Given the description of an element on the screen output the (x, y) to click on. 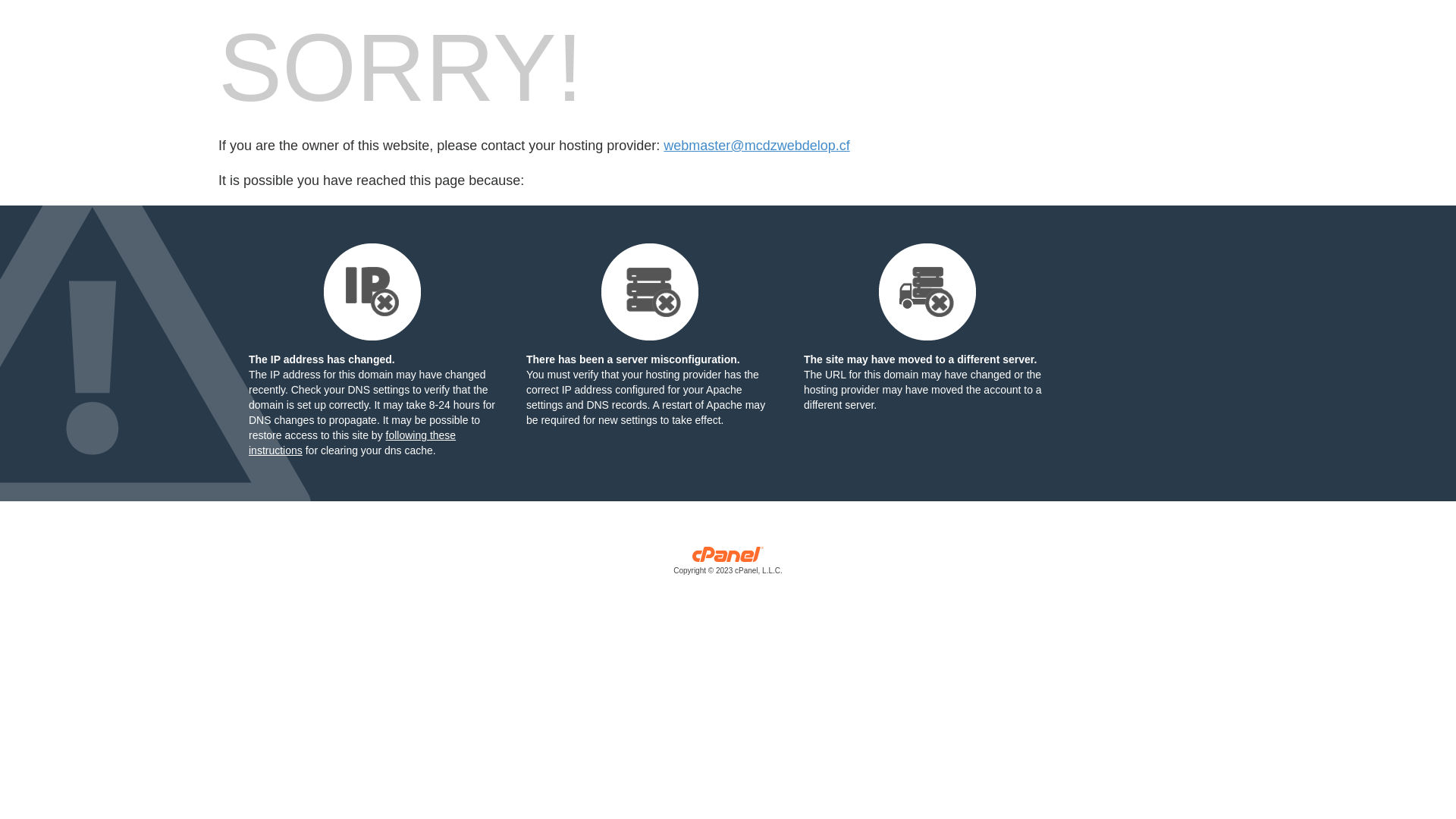
following these instructions Element type: text (351, 442)
webmaster@mcdzwebdelop.cf Element type: text (756, 145)
